Given the description of an element on the screen output the (x, y) to click on. 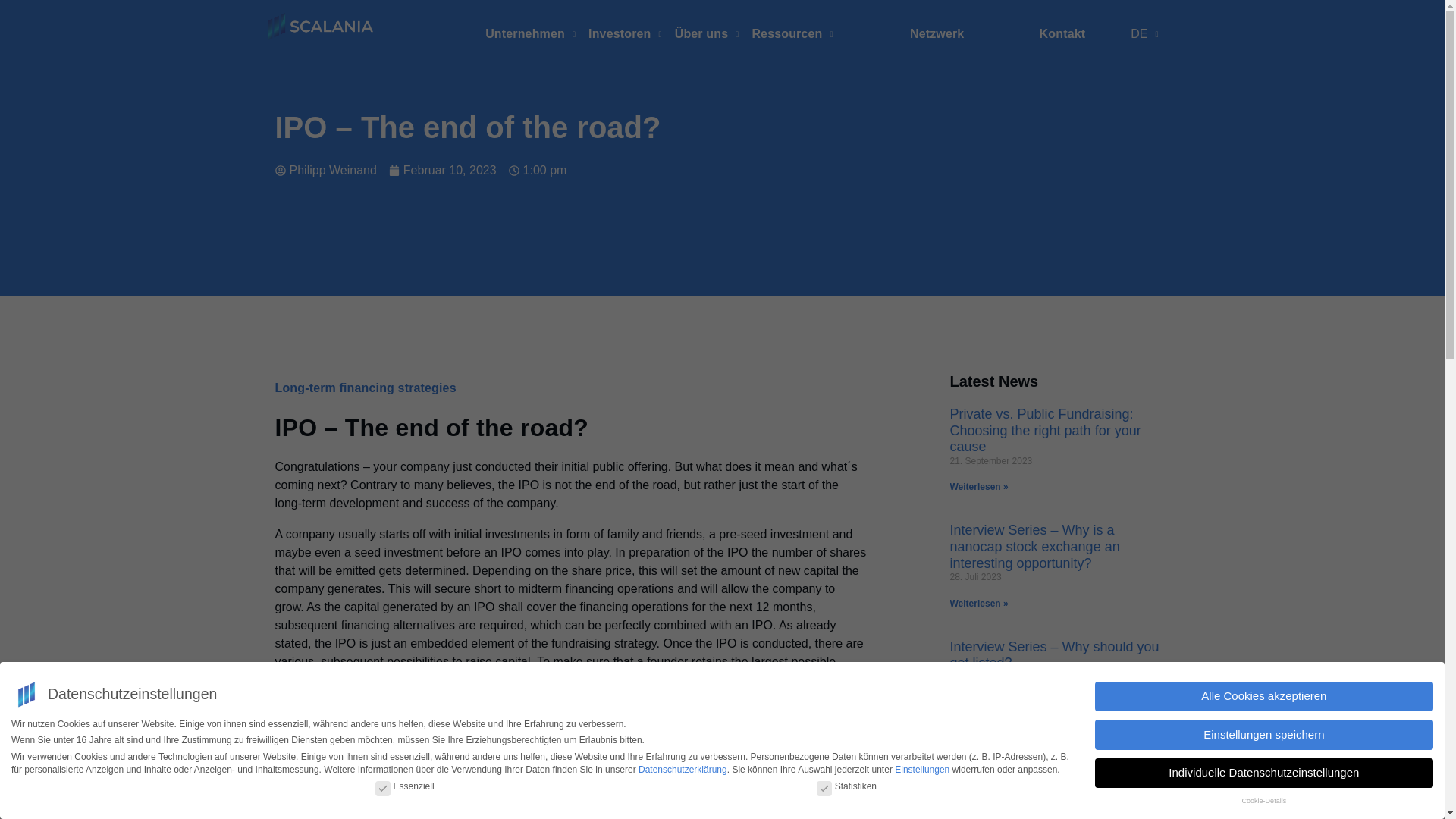
Kontakt (1062, 34)
Ressourcen (793, 33)
Netzwerk (936, 34)
DE (1145, 33)
Investoren (626, 33)
Unternehmen (531, 33)
